Given the description of an element on the screen output the (x, y) to click on. 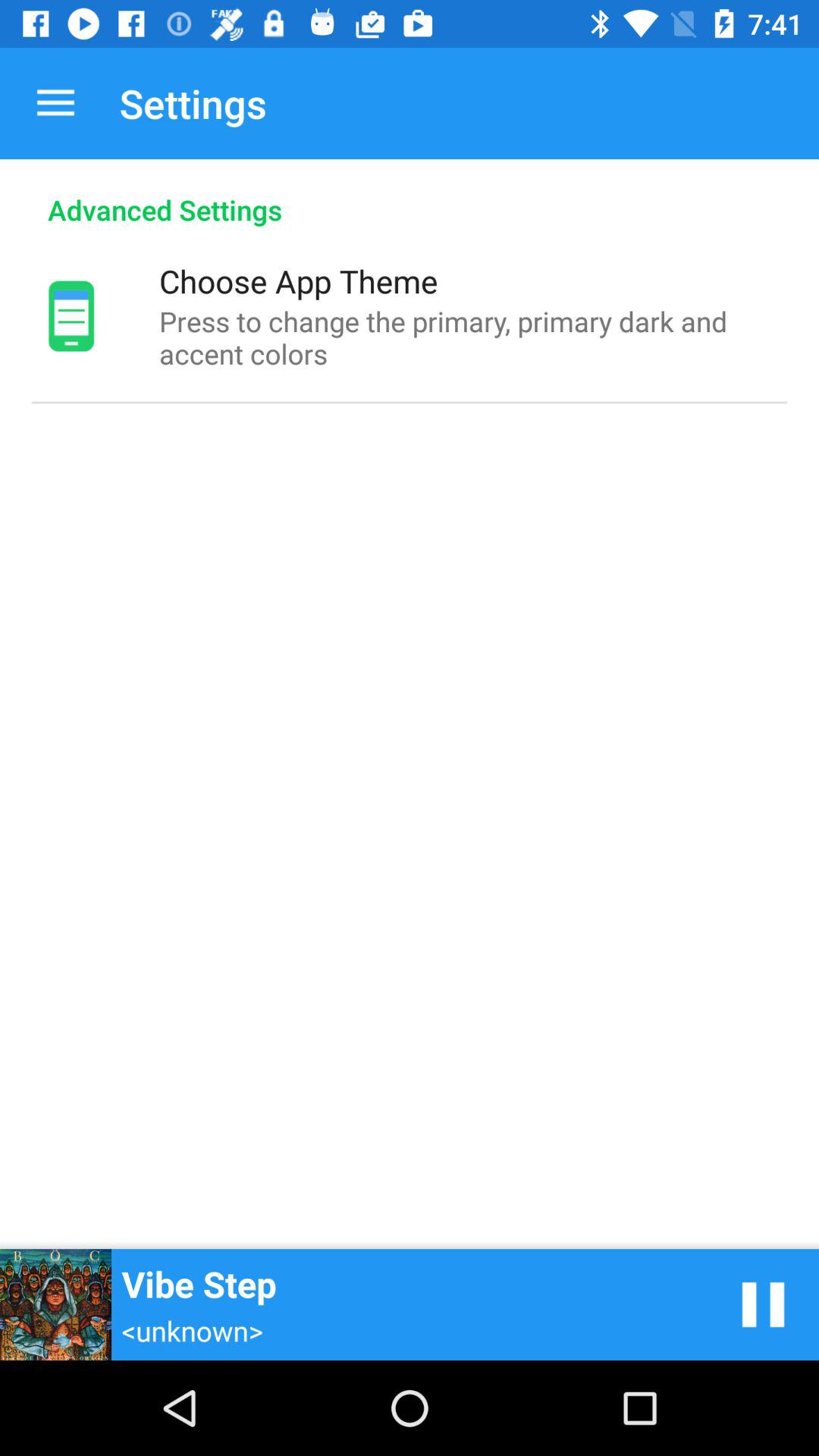
pause the song (763, 1304)
